Given the description of an element on the screen output the (x, y) to click on. 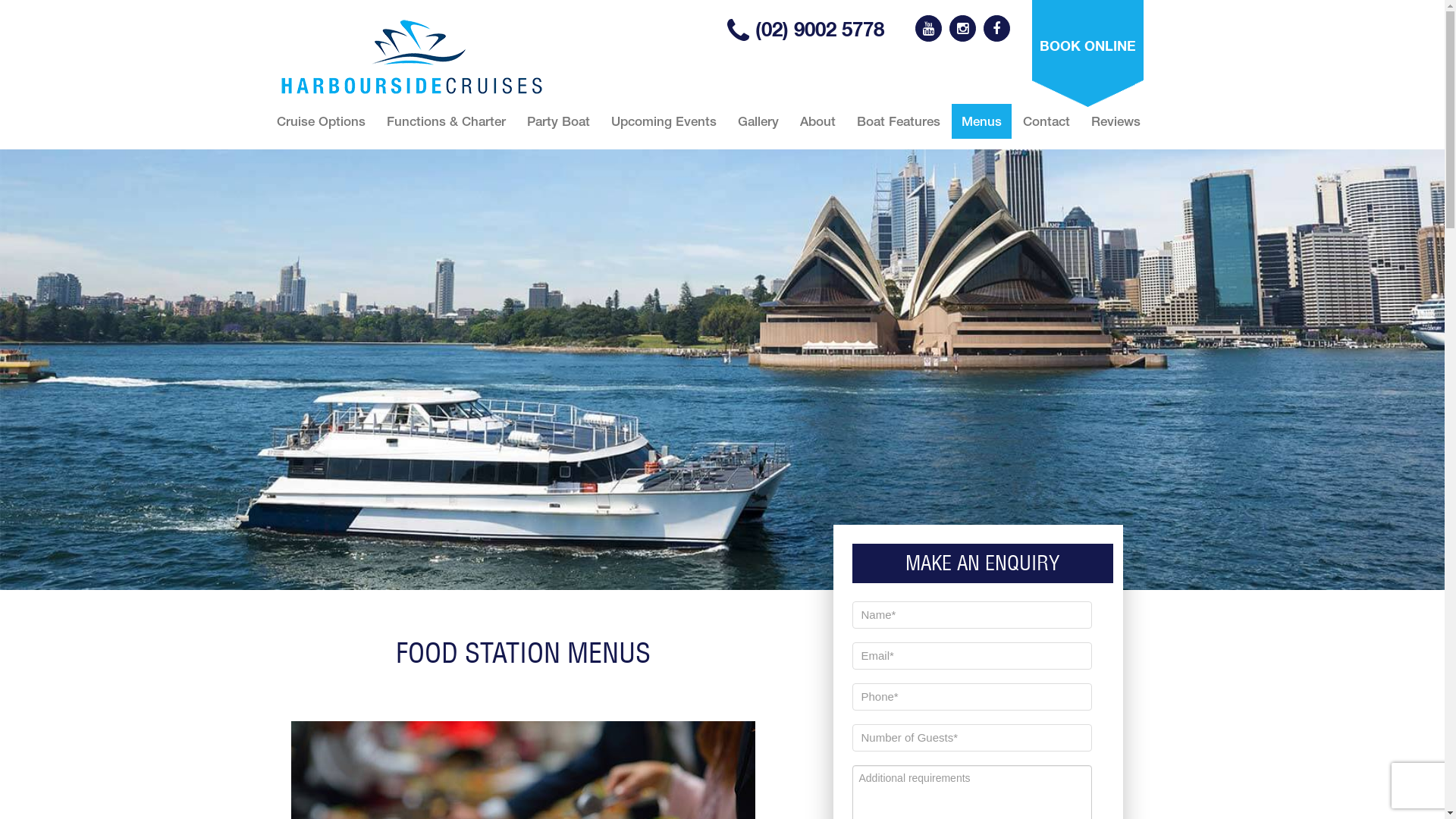
BOOK ONLINE Element type: text (1086, 53)
Gallery Element type: text (758, 120)
About Element type: text (817, 120)
Harbourside Cruises Element type: hover (411, 56)
Party Boat Element type: text (558, 120)
Functions & Charter Element type: text (445, 120)
Menus Element type: text (980, 120)
Upcoming Events Element type: text (662, 120)
Cruise Options Element type: text (320, 120)
Boat Features Element type: text (897, 120)
Contact Element type: text (1046, 120)
(02) 9002 5778 Element type: text (804, 28)
Reviews Element type: text (1115, 120)
